Given the description of an element on the screen output the (x, y) to click on. 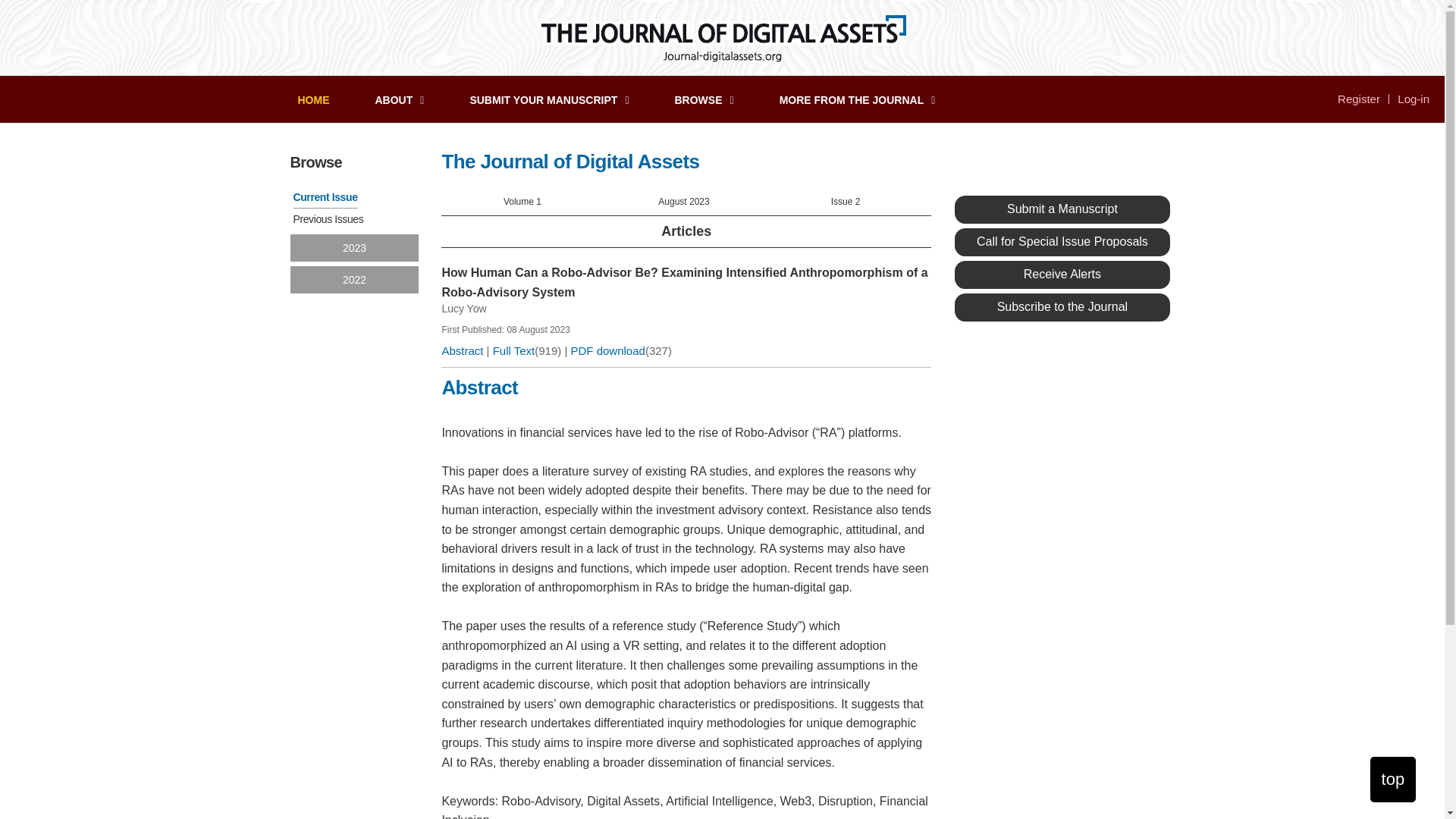
ABOUT (398, 100)
Receive Alerts (1062, 275)
Register (1359, 98)
HOME (313, 100)
PDF download (607, 350)
Full Text (514, 350)
Current Issue (324, 196)
Subscribe to the Journal (1062, 307)
Submit a Manuscript (1062, 209)
Abstract (462, 350)
